Given the description of an element on the screen output the (x, y) to click on. 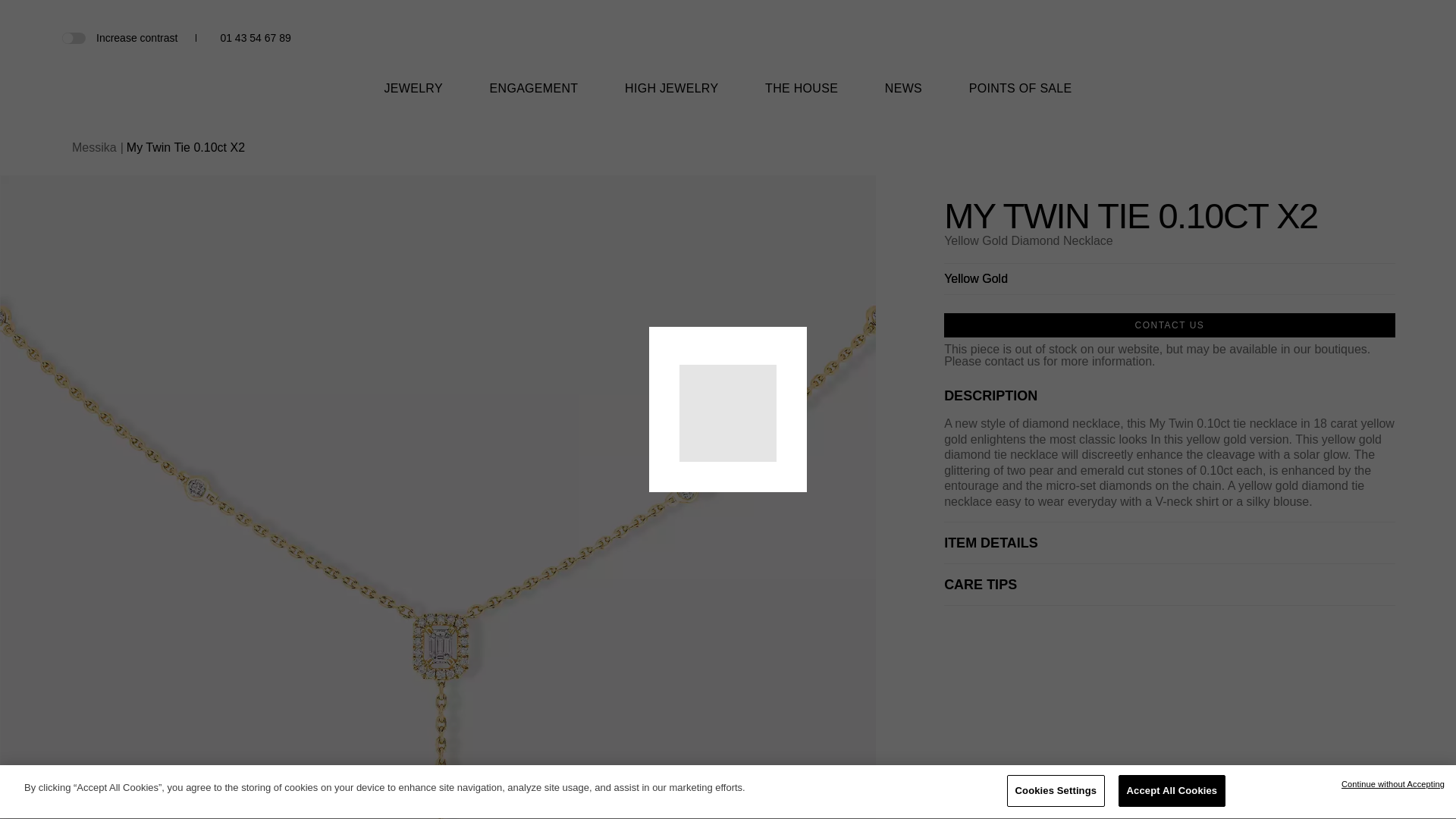
JEWELRY (413, 97)
01 43 54 67 89 (254, 37)
01 43 54 67 89 (254, 37)
Messika (727, 46)
Wishlist (1360, 37)
Messika (727, 57)
Wishlist (1360, 38)
on (73, 36)
Search (1335, 39)
